Given the description of an element on the screen output the (x, y) to click on. 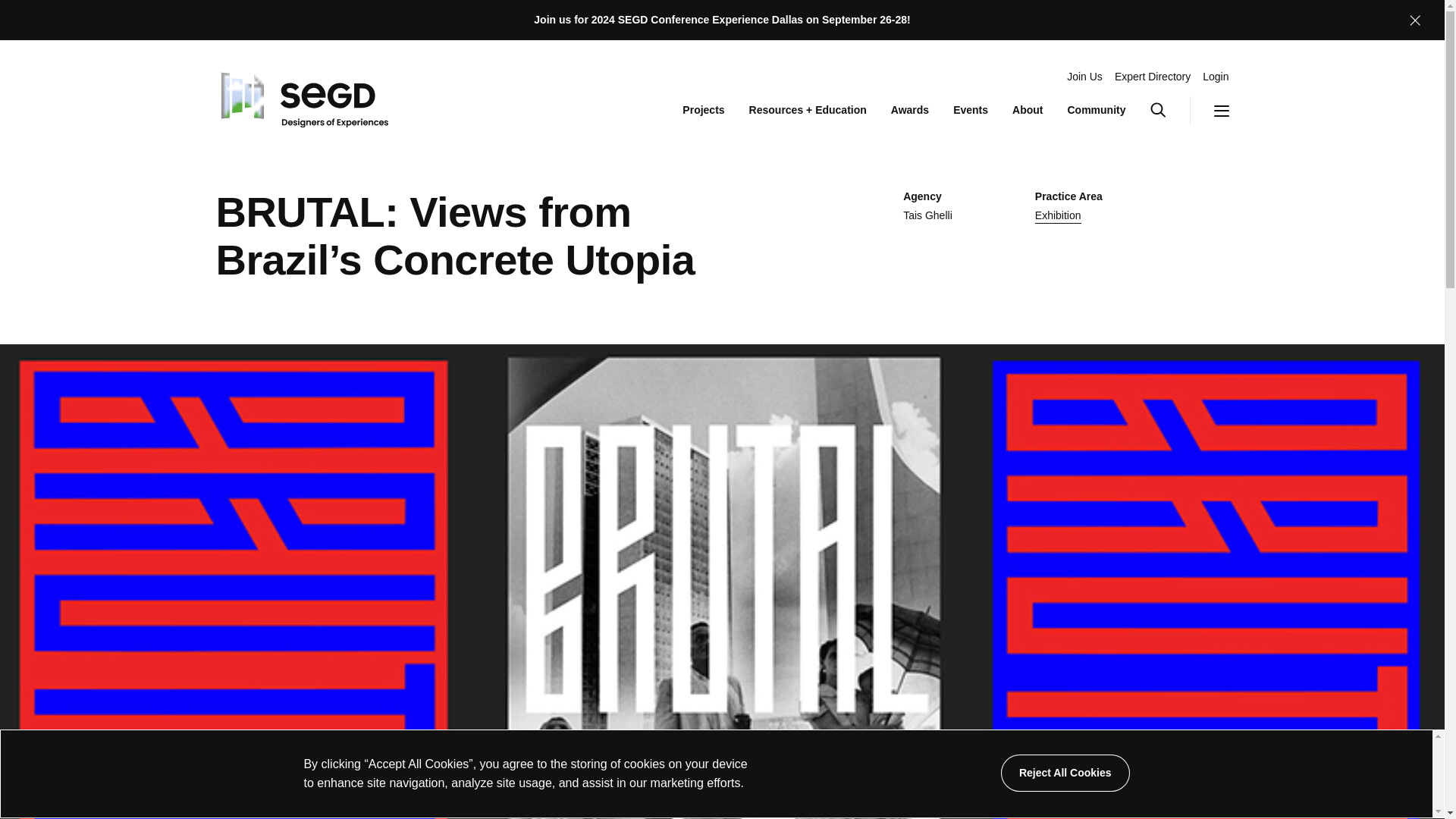
Community (1096, 110)
Awards (909, 110)
About (1026, 110)
Expert Directory (1153, 76)
Open search (1169, 110)
Join Us (1084, 76)
Projects (702, 110)
Reject All Cookies (1065, 772)
Events (970, 110)
Home (301, 95)
Exhibition (1058, 216)
Login (1215, 76)
Accept All Cookies (916, 772)
